Given the description of an element on the screen output the (x, y) to click on. 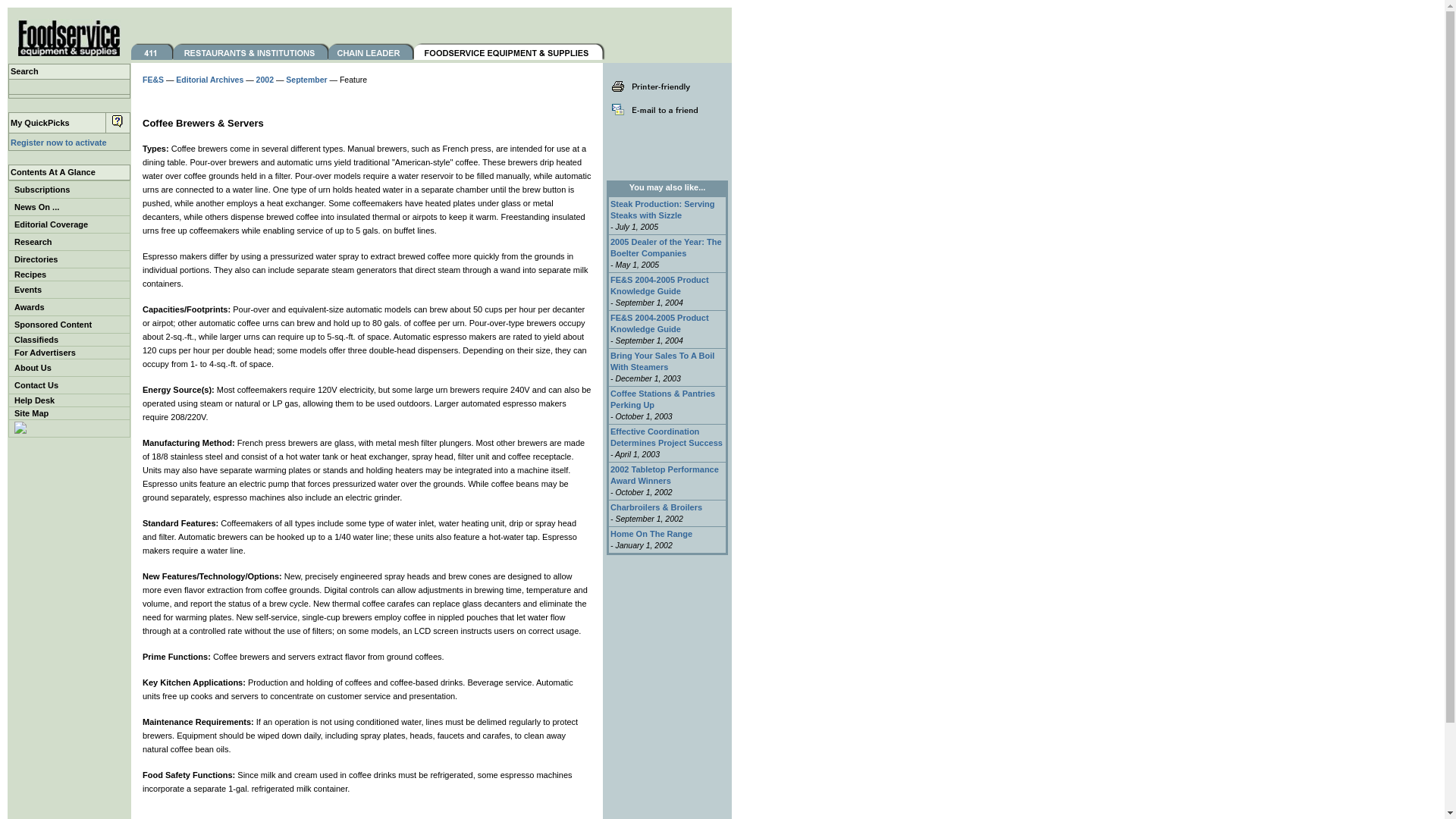
Register now to activate (58, 142)
Research (68, 241)
Bring Your Sales To A Boil With Steamers (662, 361)
Effective Coordination Determines Project Success (666, 436)
Events (68, 289)
Editorial Coverage (68, 224)
2002 Tabletop Performance Award Winners (664, 475)
Contact Us (68, 384)
Directories (68, 258)
News On ... (68, 206)
Recipes (68, 274)
Site Map (68, 412)
Help Desk (68, 399)
2005 Dealer of the Year: The Boelter Companies (666, 247)
Awards (68, 307)
